Given the description of an element on the screen output the (x, y) to click on. 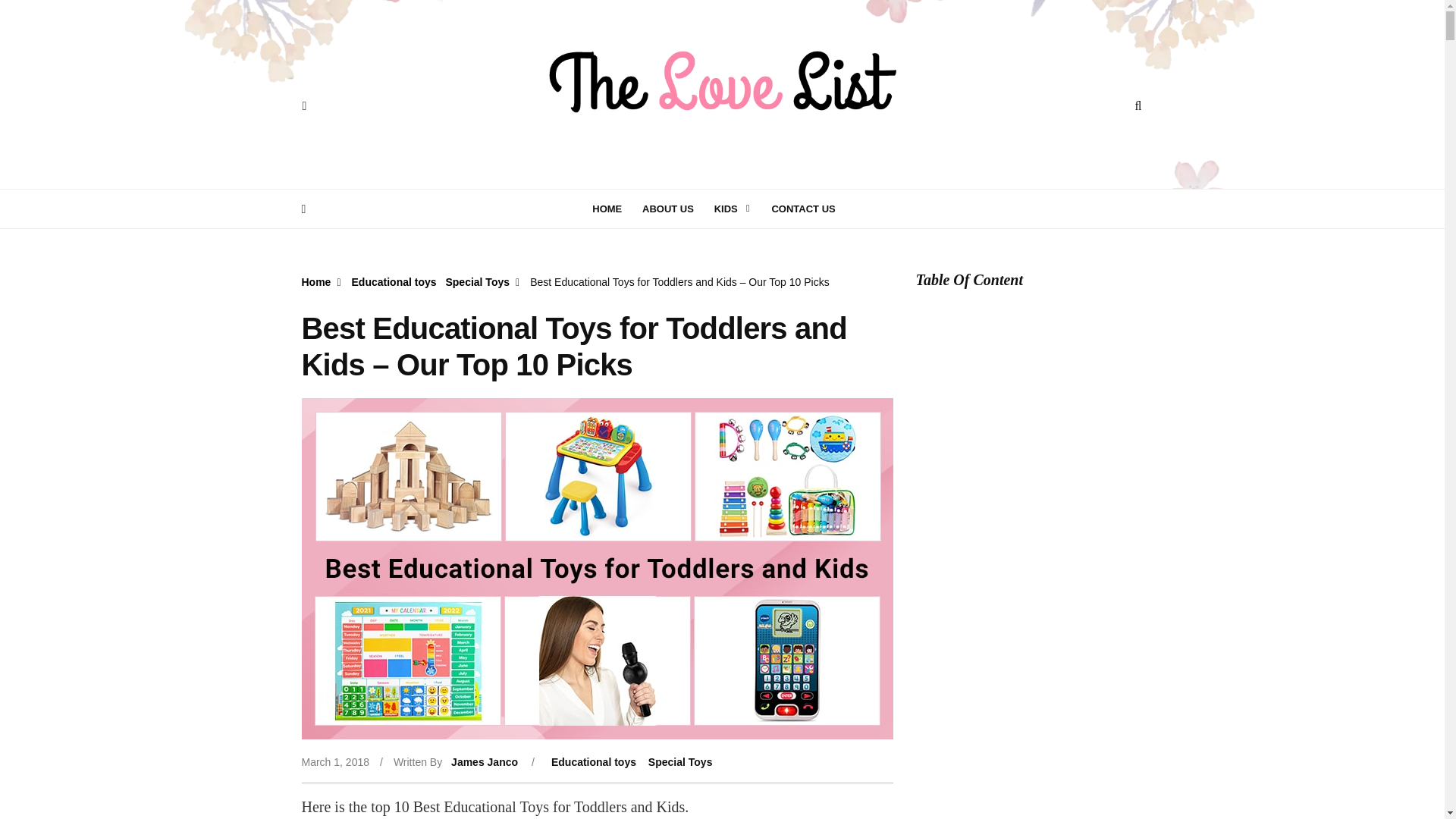
HOME (615, 207)
View all posts in Educational toys (593, 762)
KIDS (737, 207)
View all posts in Special Toys (680, 762)
View all posts in Special Toys (477, 282)
ABOUT US (676, 207)
View all posts in Educational toys (394, 282)
